Given the description of an element on the screen output the (x, y) to click on. 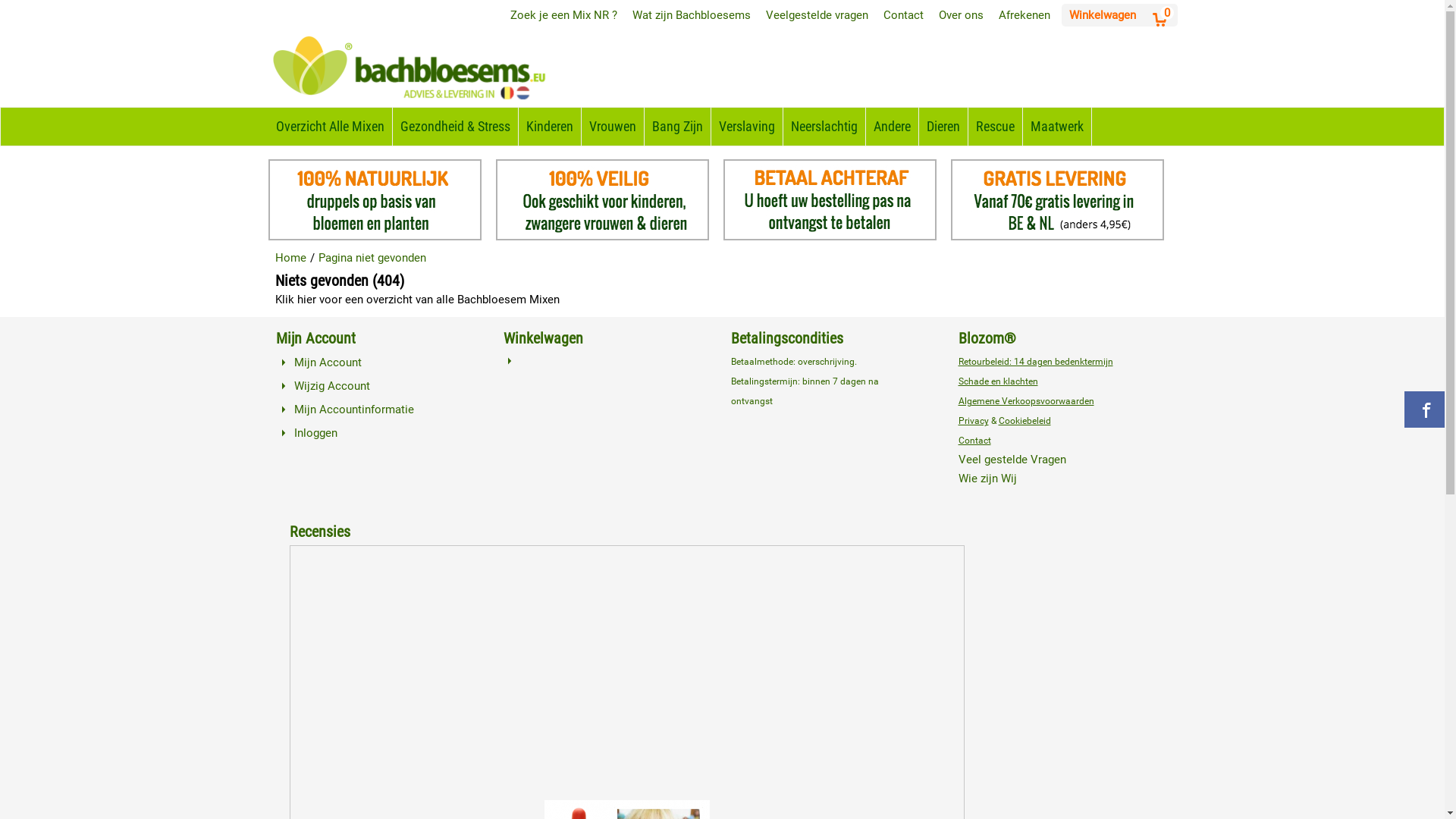
Gezondheid & Stress Element type: text (454, 126)
Bang Zijn Element type: text (677, 126)
Wijzig Account Element type: text (332, 385)
Dieren Element type: text (943, 126)
Algemene Verkoopsvoorwaarden Element type: text (1026, 400)
Mijn Account Element type: text (327, 362)
Maatwerk Element type: text (1056, 126)
Schade en klachten Element type: text (998, 381)
Privacy Element type: text (973, 420)
Afrekenen Element type: text (1023, 14)
Wat zijn Bachbloesems Element type: text (691, 14)
Klik hier voor een overzicht van alle Bachbloesem Mixen Element type: text (416, 299)
Cookiebeleid Element type: text (1023, 420)
Over ons Element type: text (960, 14)
Contact Element type: text (974, 440)
Zoek je een Mix NR ? Element type: text (562, 14)
Rescue Element type: text (994, 126)
Kinderen Element type: text (549, 126)
Mijn Accountinformatie Element type: text (354, 409)
Veel gestelde Vragen Element type: text (1012, 459)
Inloggen Element type: text (315, 432)
Home Element type: text (289, 259)
Wie zijn Wij Element type: text (987, 478)
Vrouwen Element type: text (611, 126)
Retourbeleid: 14 dagen bedenktermijn Element type: text (1035, 361)
Contact Element type: text (902, 14)
Overzicht Alle Mixen Element type: text (330, 126)
Pagina niet gevonden Element type: text (372, 259)
Andere Element type: text (892, 126)
Winkelwagen Element type: text (1102, 14)
Verslaving Element type: text (746, 126)
Veelgestelde vragen Element type: text (816, 14)
Neerslachtig Element type: text (823, 126)
